Given the description of an element on the screen output the (x, y) to click on. 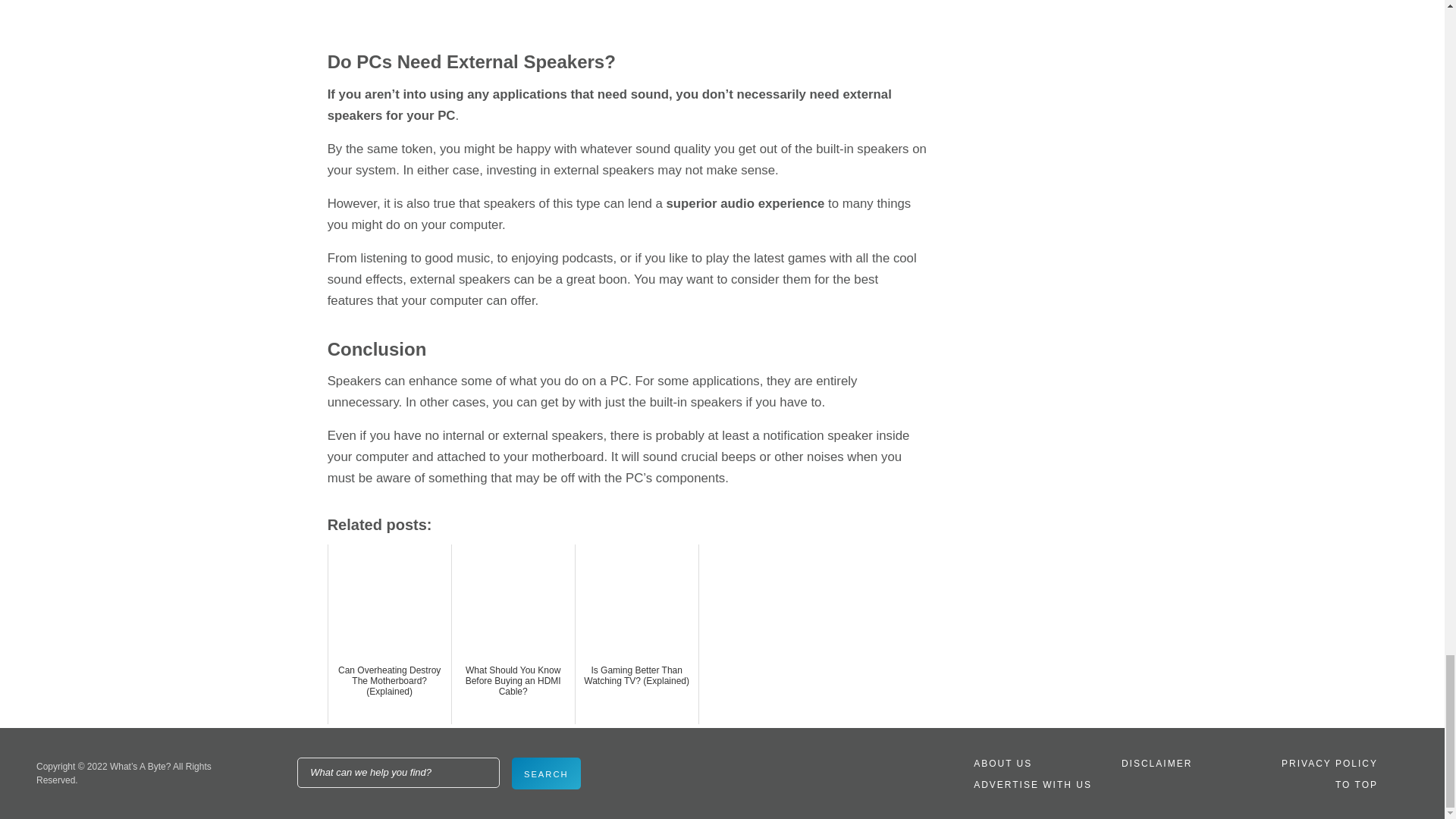
Search (546, 773)
Search (546, 773)
